Given the description of an element on the screen output the (x, y) to click on. 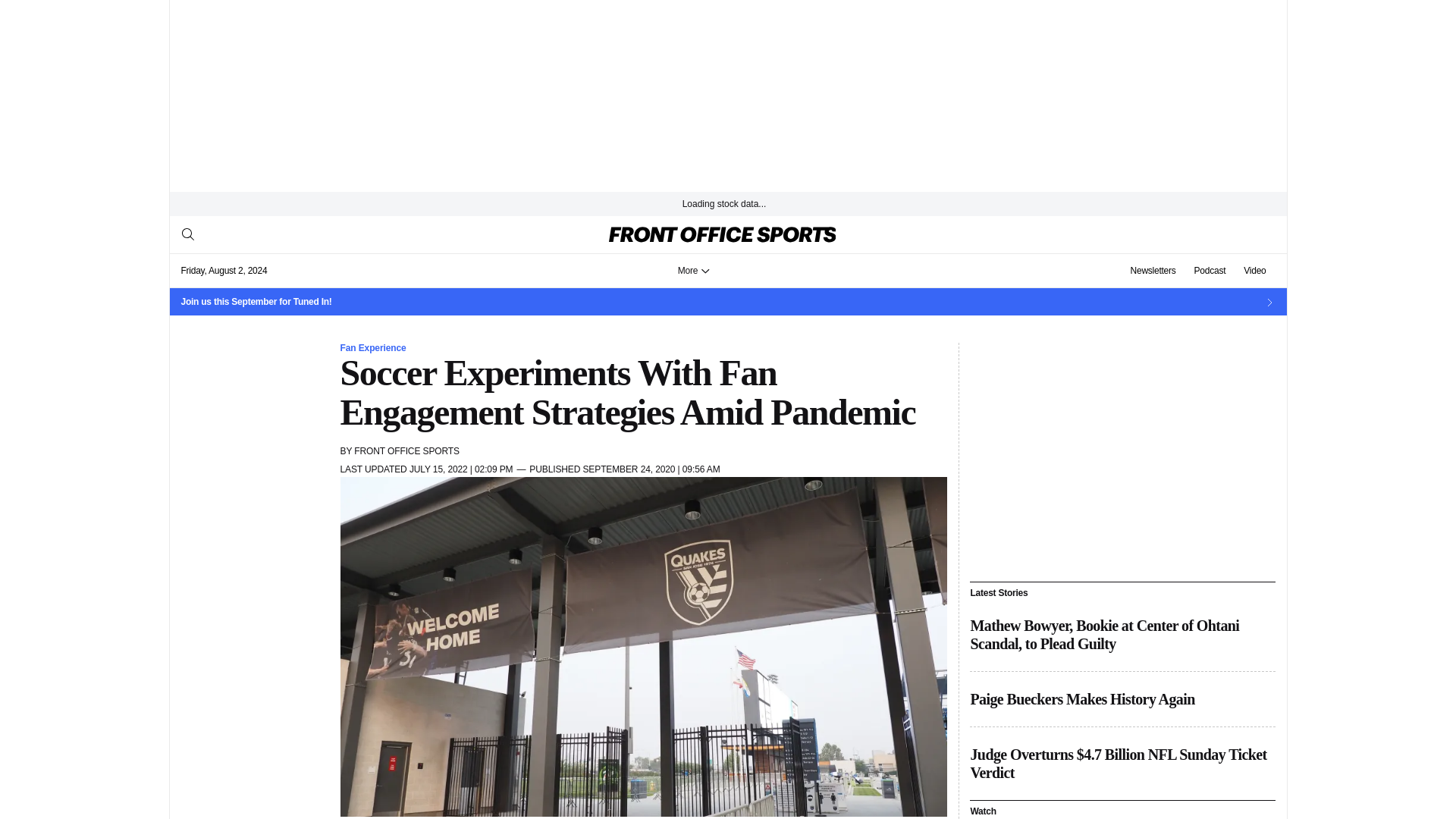
More (693, 270)
Posts by Front Office Sports (406, 450)
